Given the description of an element on the screen output the (x, y) to click on. 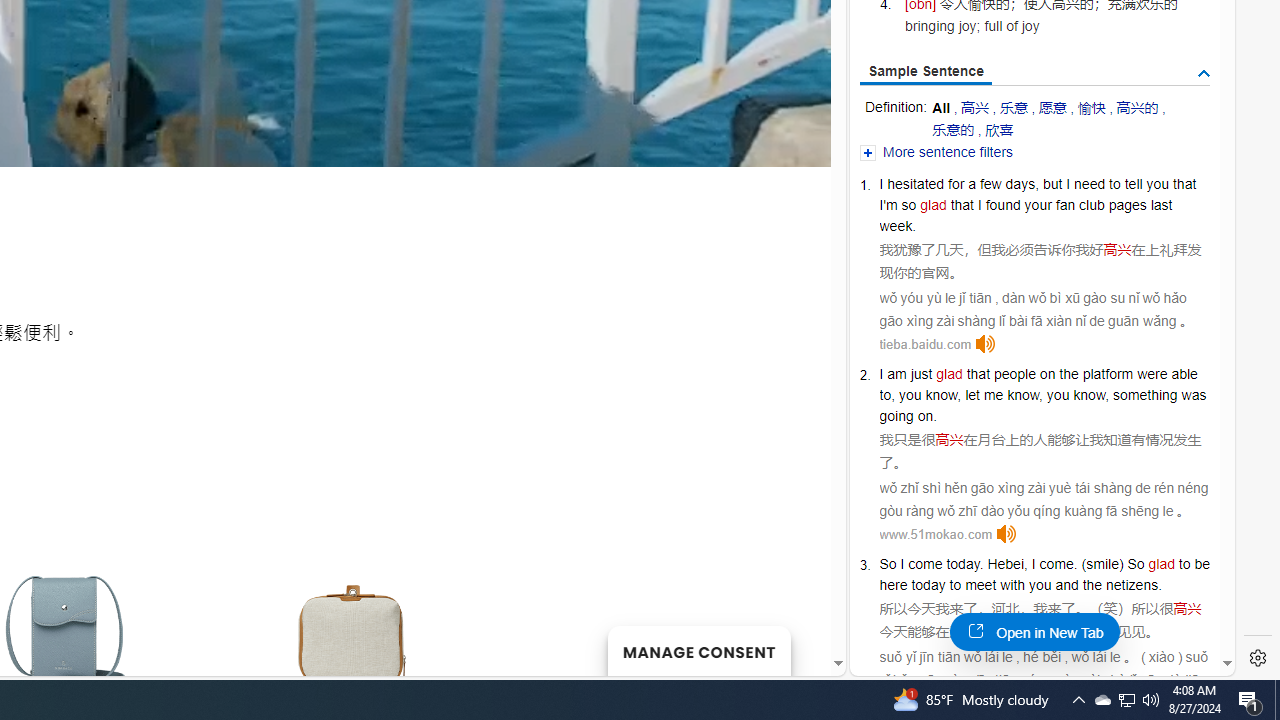
with (1012, 584)
on (1047, 373)
) (1120, 563)
Settings (1258, 658)
AutomationID: tgdef_sen (1203, 73)
let (972, 395)
people (1014, 373)
, (1025, 563)
www.51mokao.com (936, 534)
hesitated (915, 183)
platform (1107, 373)
